Given the description of an element on the screen output the (x, y) to click on. 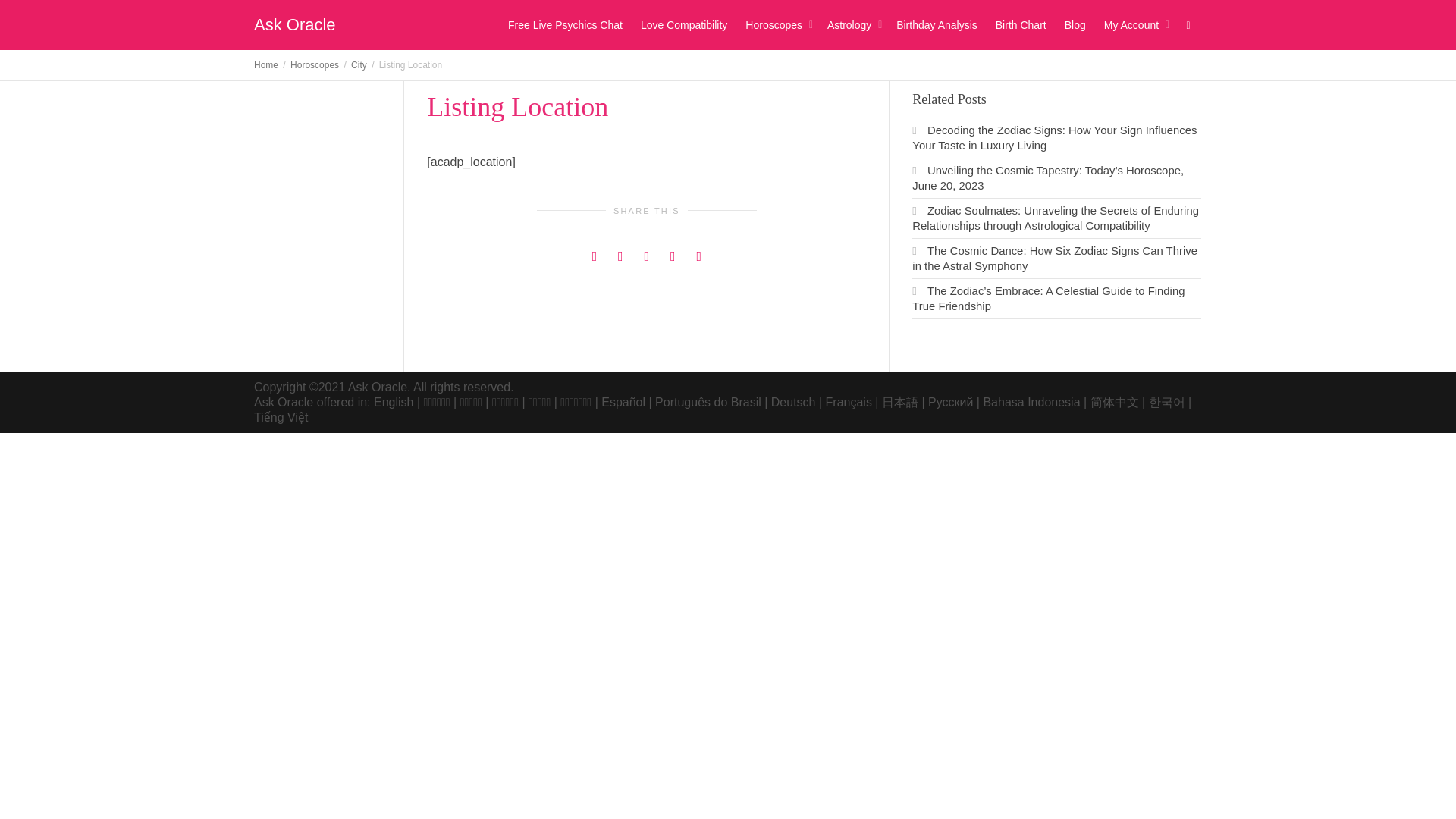
Love Compatibility (683, 24)
Free Live Psychics Chat (565, 24)
Astrology (852, 24)
Horoscopes (777, 24)
Birthday Analysis (936, 24)
Love Compatibility (683, 24)
Ask Oracle (294, 24)
Free Live Psychics Chat (565, 24)
My Account (1134, 24)
City (358, 64)
Birth Chart (1020, 24)
Home (265, 64)
Astrology (852, 24)
Horoscopes (314, 64)
Horoscopes (777, 24)
